Given the description of an element on the screen output the (x, y) to click on. 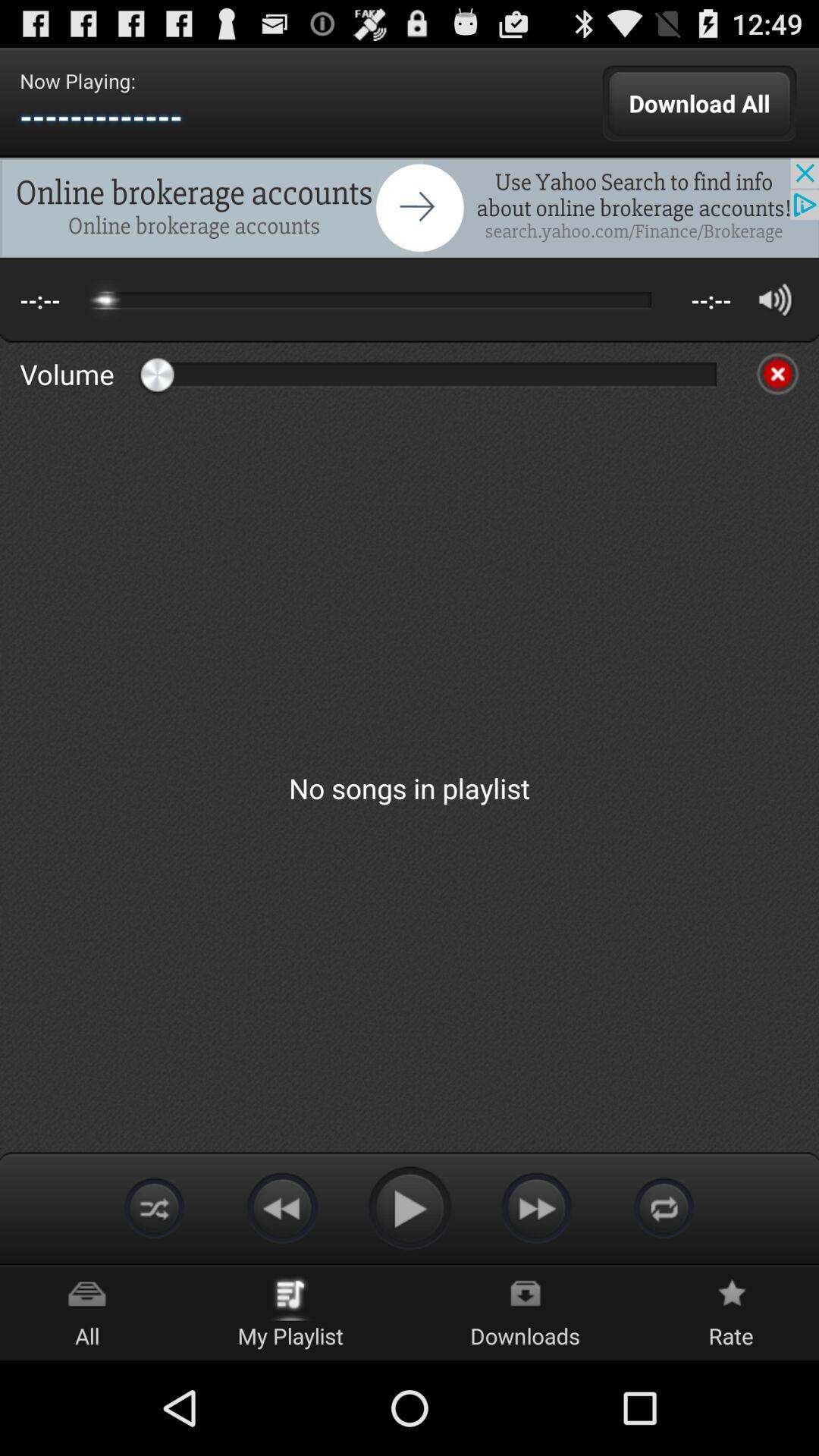
reload page (664, 1207)
